Given the description of an element on the screen output the (x, y) to click on. 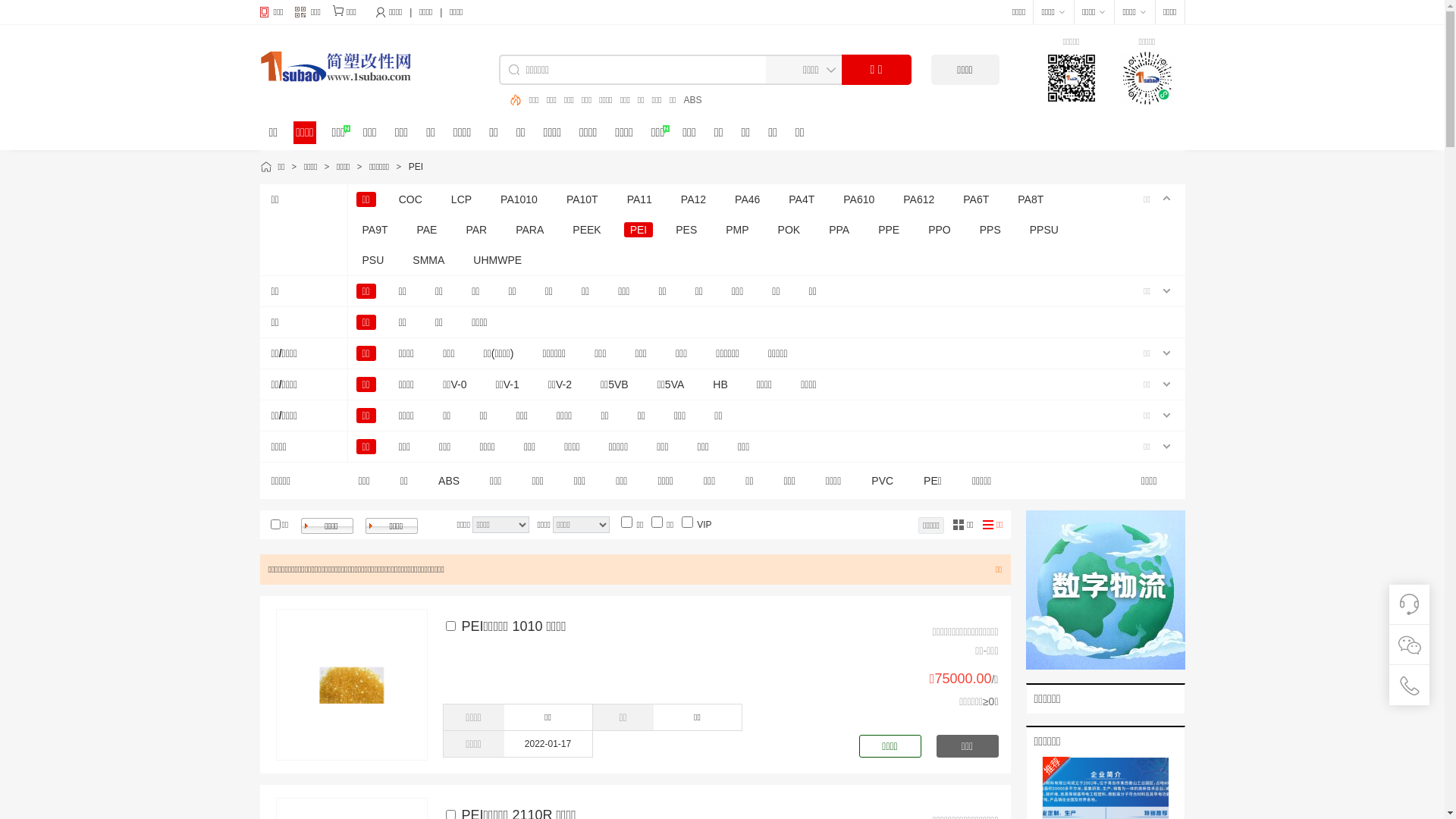
PA1010 Element type: text (518, 199)
PES Element type: text (685, 229)
PPO Element type: text (939, 229)
UHMWPE Element type: text (497, 259)
PA612 Element type: text (918, 199)
28735 Element type: text (450, 625)
LCP Element type: text (461, 199)
PPSU Element type: text (1043, 229)
PA8T Element type: text (1030, 199)
PA610 Element type: text (858, 199)
PA12 Element type: text (693, 199)
PEI Element type: text (638, 229)
SMMA Element type: text (428, 259)
ABS Element type: text (452, 477)
PPA Element type: text (838, 229)
on Element type: text (626, 521)
ABS Element type: text (548, 99)
PA6T Element type: text (975, 199)
COC Element type: text (410, 199)
PPS Element type: text (990, 229)
PEI Element type: text (415, 166)
PVC Element type: text (885, 477)
PA46 Element type: text (746, 199)
PARA Element type: text (529, 229)
PSU Element type: text (373, 259)
PEEK Element type: text (586, 229)
PA10T Element type: text (582, 199)
on Element type: text (687, 521)
POK Element type: text (788, 229)
PA11 Element type: text (639, 199)
PAR Element type: text (475, 229)
on Element type: text (274, 524)
PA9T Element type: text (375, 229)
PMP Element type: text (736, 229)
on Element type: text (656, 521)
PAE Element type: text (426, 229)
PPE Element type: text (888, 229)
HB Element type: text (719, 384)
PA4T Element type: text (801, 199)
